Given the description of an element on the screen output the (x, y) to click on. 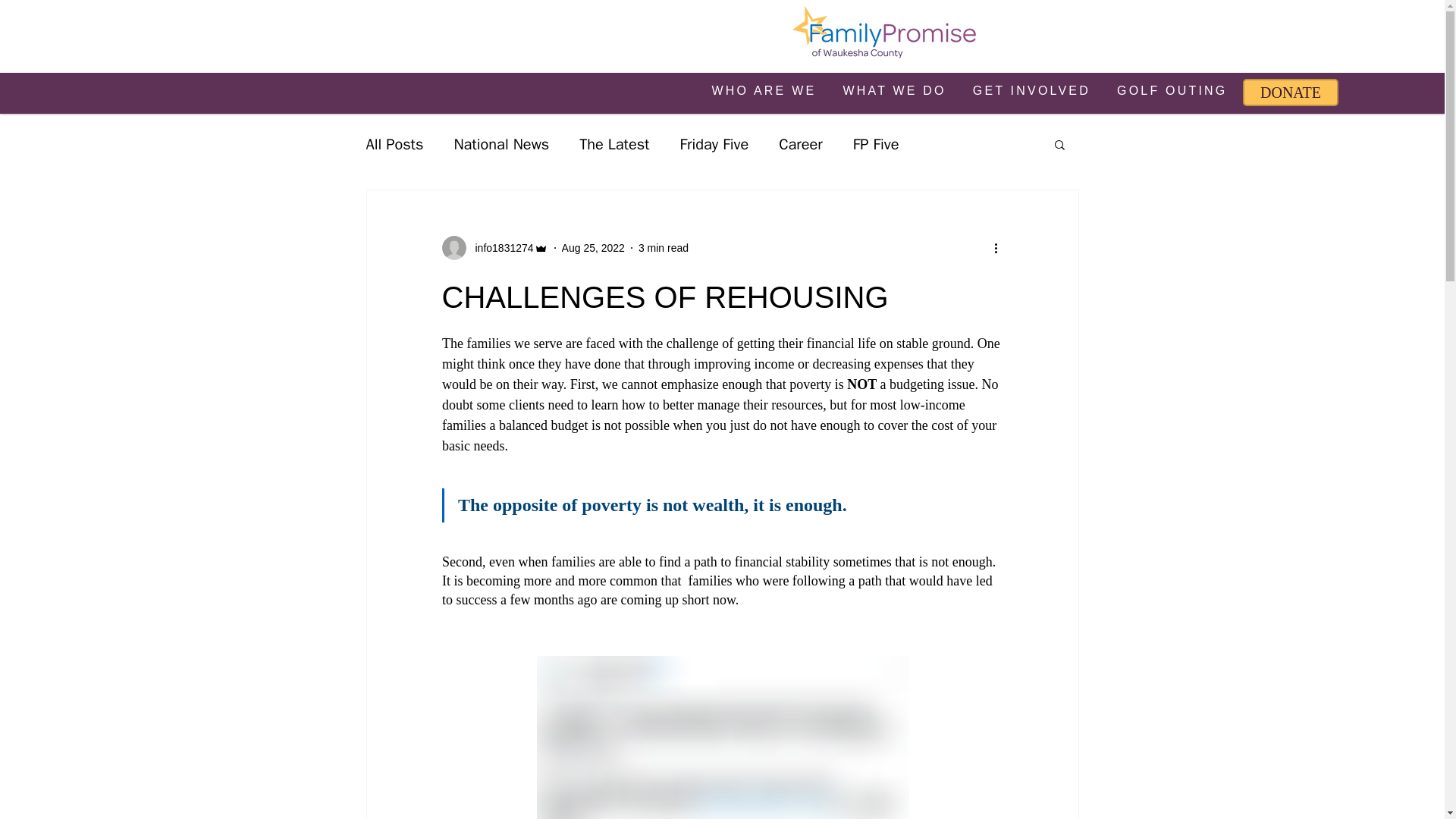
GOLF OUTING (1172, 91)
The Latest (614, 143)
National News (500, 143)
Aug 25, 2022 (593, 246)
FP Five (876, 143)
All Posts (394, 143)
3 min read (663, 246)
DONATE (1290, 92)
info1831274 (498, 247)
Career (800, 143)
